Given the description of an element on the screen output the (x, y) to click on. 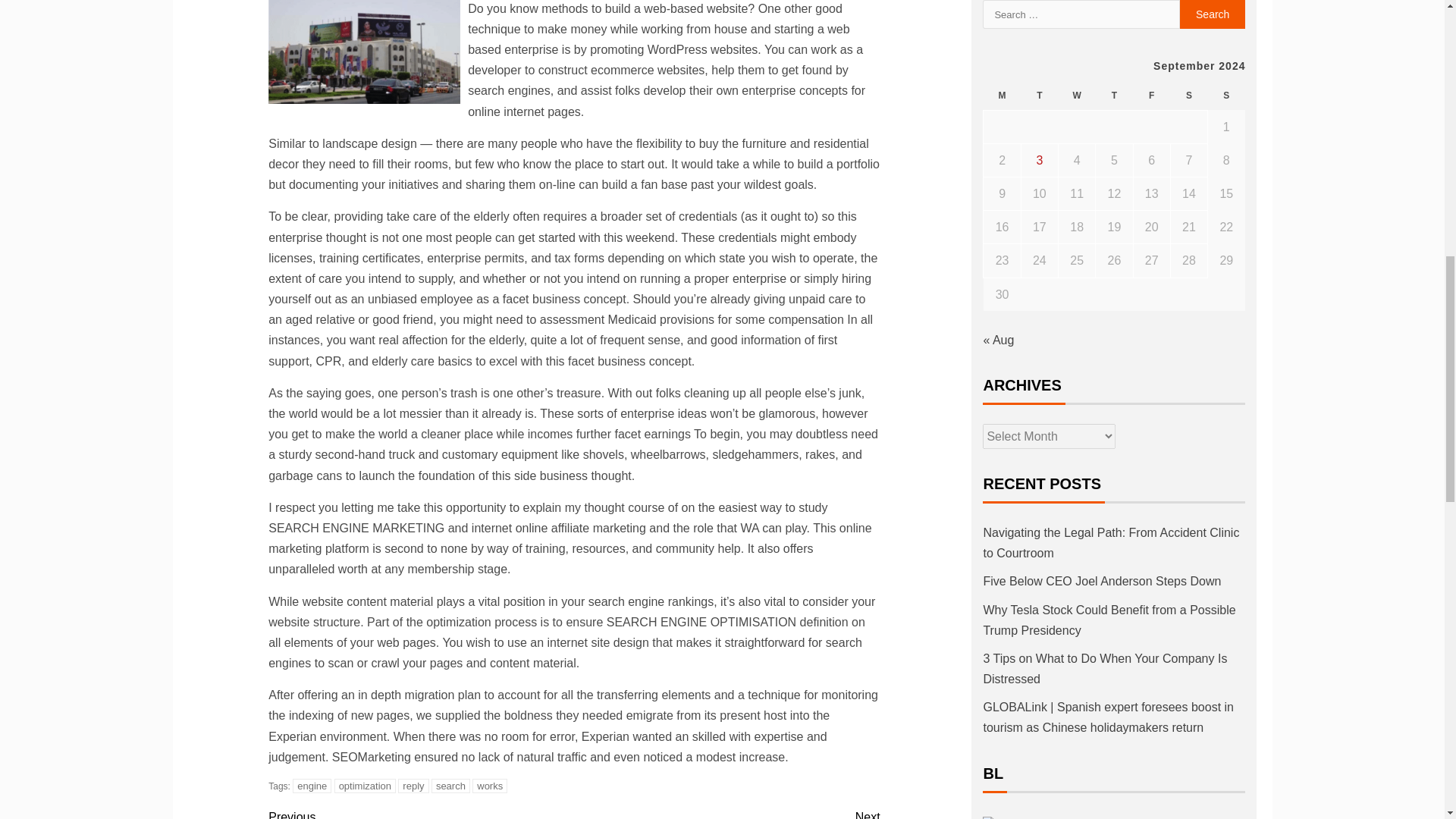
reply (412, 785)
Monday (1002, 95)
works (488, 785)
Tuesday (1039, 95)
engine (311, 785)
Search (1212, 14)
Wednesday (1077, 95)
optimization (365, 785)
Search (1212, 14)
